Given the description of an element on the screen output the (x, y) to click on. 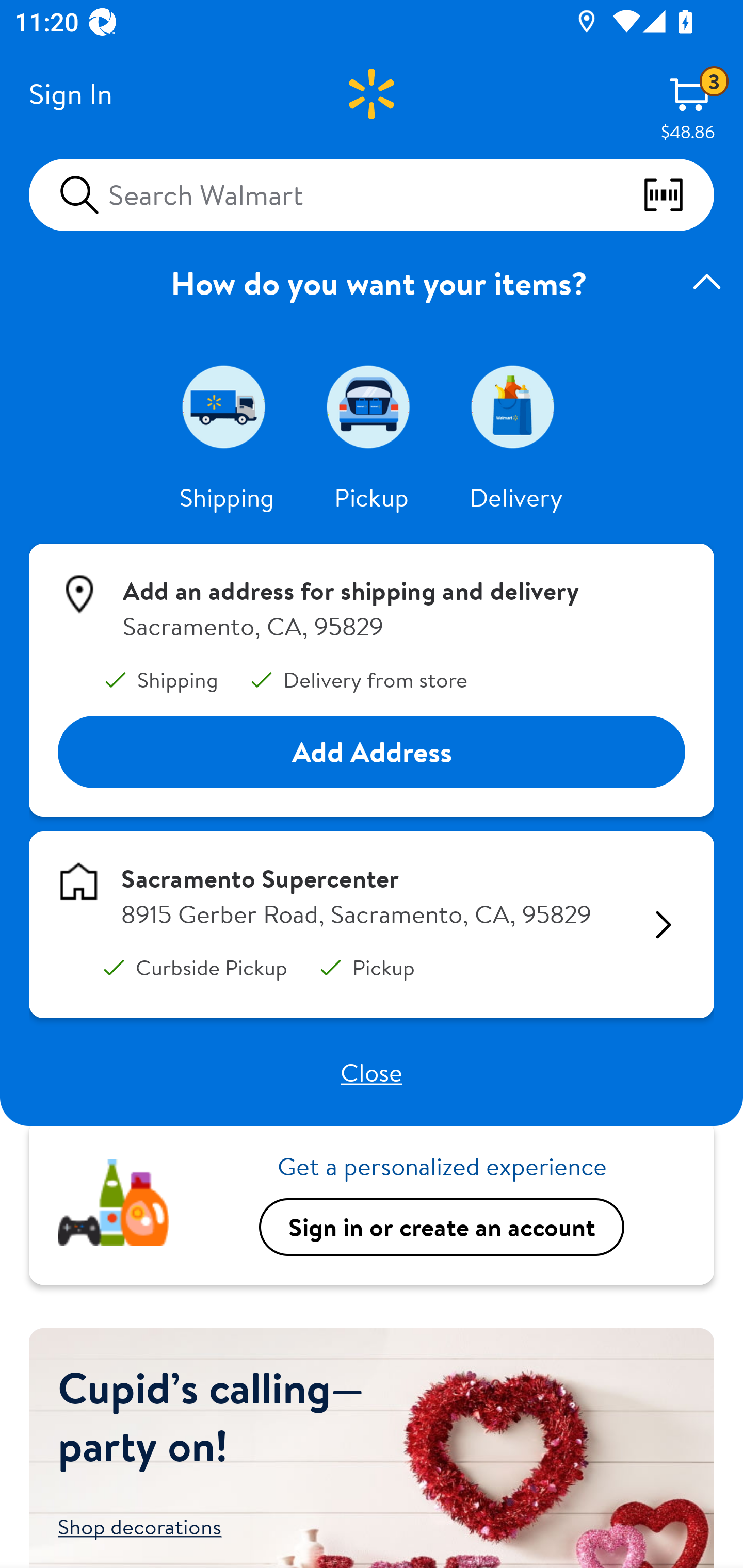
Sign In (70, 93)
Search Walmart scan barcodes qr codes and more (371, 194)
scan barcodes qr codes and more (677, 195)
How do you want your items? expanded (371, 282)
Shipping 1 of 3 (226, 406)
Pickup 2 of 3 (371, 406)
Delivery 3 of 3 (515, 406)
Add Address (371, 752)
Close (371, 1072)
Sign in or create an account (441, 1226)
